Given the description of an element on the screen output the (x, y) to click on. 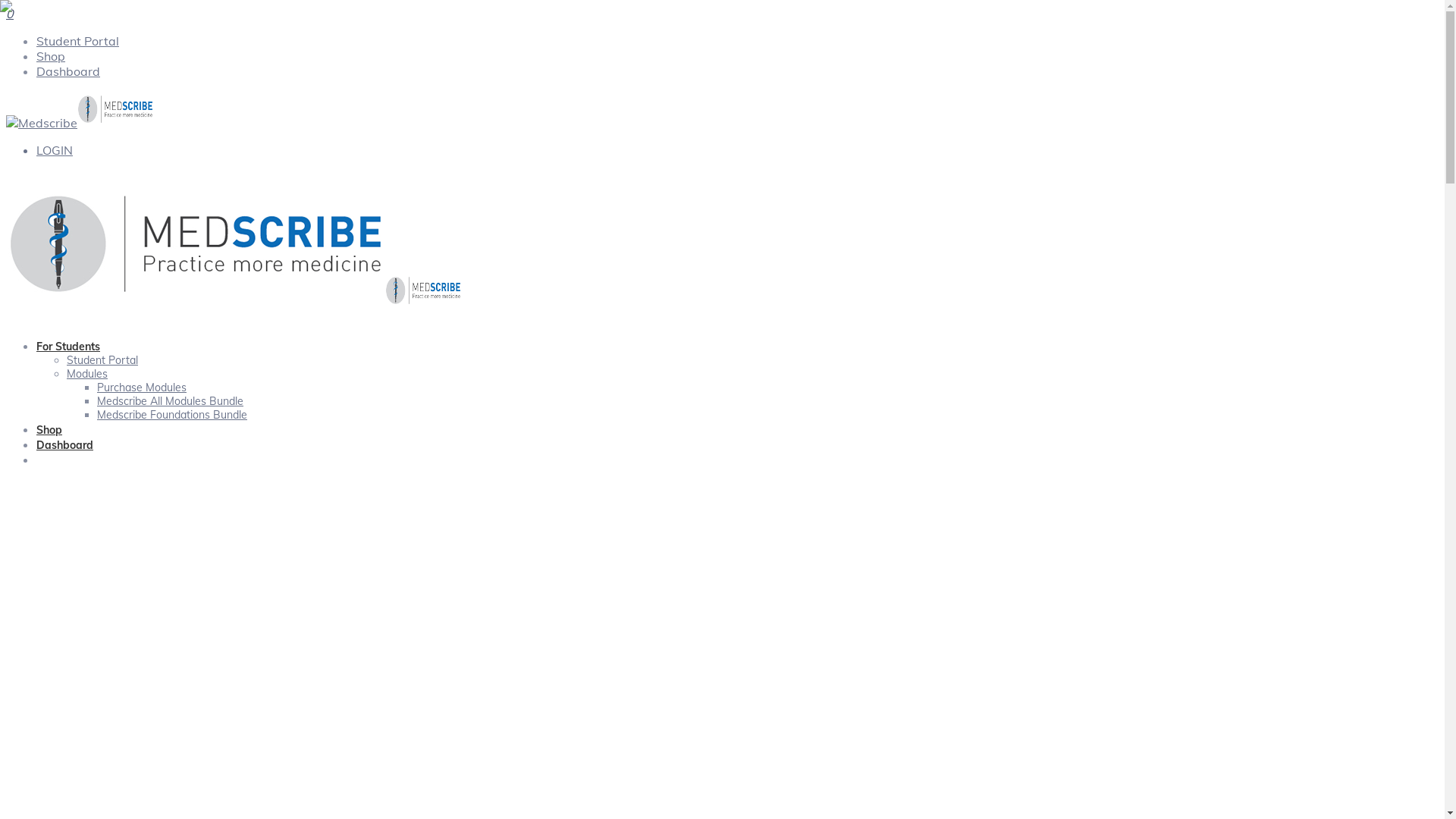
For Students Element type: text (68, 346)
Medscribe Foundations Bundle Element type: text (172, 414)
0 Element type: text (9, 13)
Student Portal Element type: text (77, 40)
Modules Element type: text (86, 373)
Student Portal Element type: text (102, 360)
LOGIN Element type: text (54, 149)
Dashboard Element type: text (64, 444)
Purchase Modules Element type: text (141, 387)
Medscribe All Modules Bundle Element type: text (170, 400)
Dashboard Element type: text (68, 70)
Shop Element type: text (49, 429)
Shop Element type: text (50, 55)
